Given the description of an element on the screen output the (x, y) to click on. 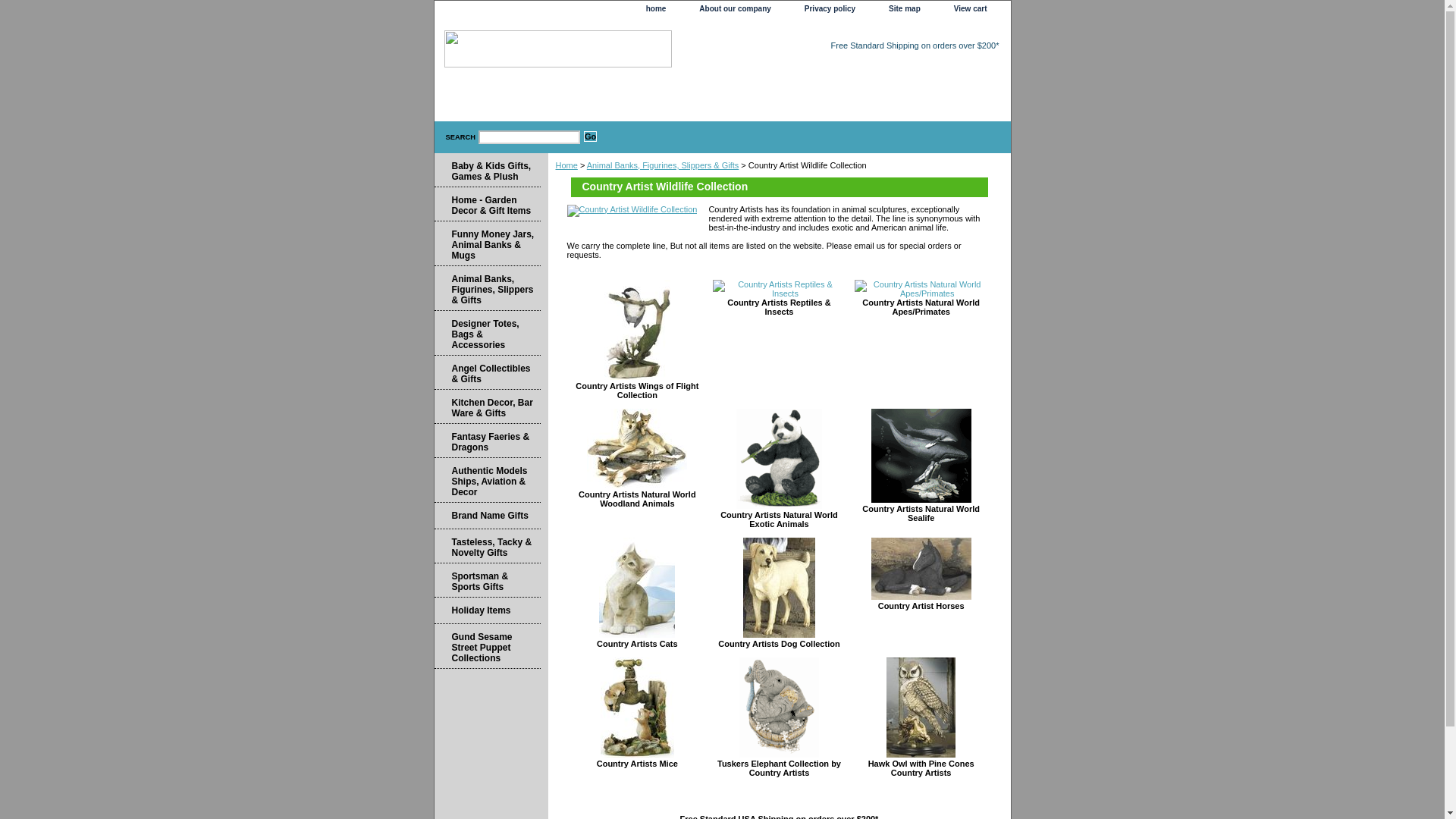
Hawk Owl with Pine Cones Country Artists (920, 768)
Country Artists Wings of Flight Collection (636, 390)
Country Artists Cats (637, 643)
Country Artist Horses (920, 605)
Go (589, 136)
Country Artist Horses (920, 568)
Country Artists Natural World Sealife (920, 513)
Country Artists Natural World Sealife (920, 455)
Country Artists Natural World Woodland Animals (636, 448)
Country Artists Natural World Exotic Animals (779, 519)
Country Artist Horses (920, 605)
Country Artists Cats (637, 643)
Privacy policy (829, 9)
Country Artists Mice (637, 763)
Go (589, 136)
